Given the description of an element on the screen output the (x, y) to click on. 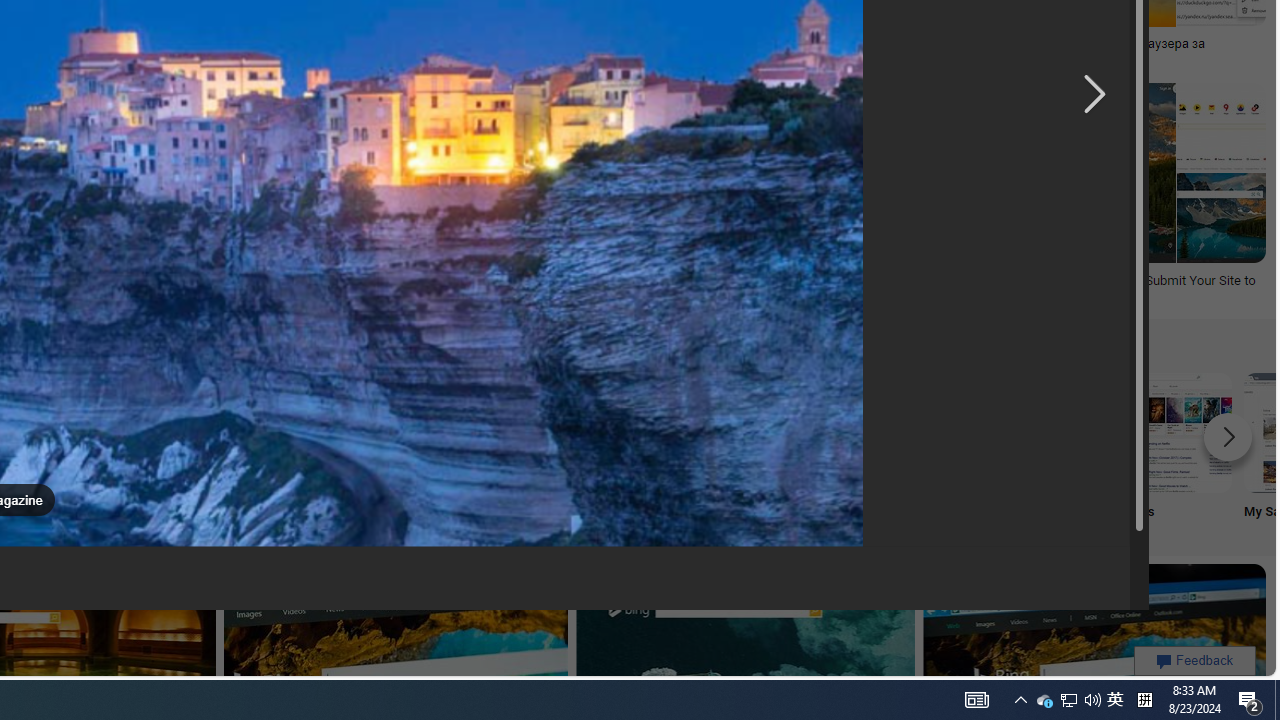
Bing Search Settings (907, 432)
Web Searching | Computer Applications for Managers (216, 287)
Top 10 Search engine | REALITYPOD - Part 3 (372, 44)
Top 10 Search engine | REALITYPOD - Part 3 (347, 44)
App (511, 450)
Bing Intelligent Search Intelligent (643, 450)
Bing Search Bar Install Bar Install (380, 450)
Random (116, 450)
Image result for Bing Search Site (1221, 217)
Bing the Search Engine (248, 432)
